Given the description of an element on the screen output the (x, y) to click on. 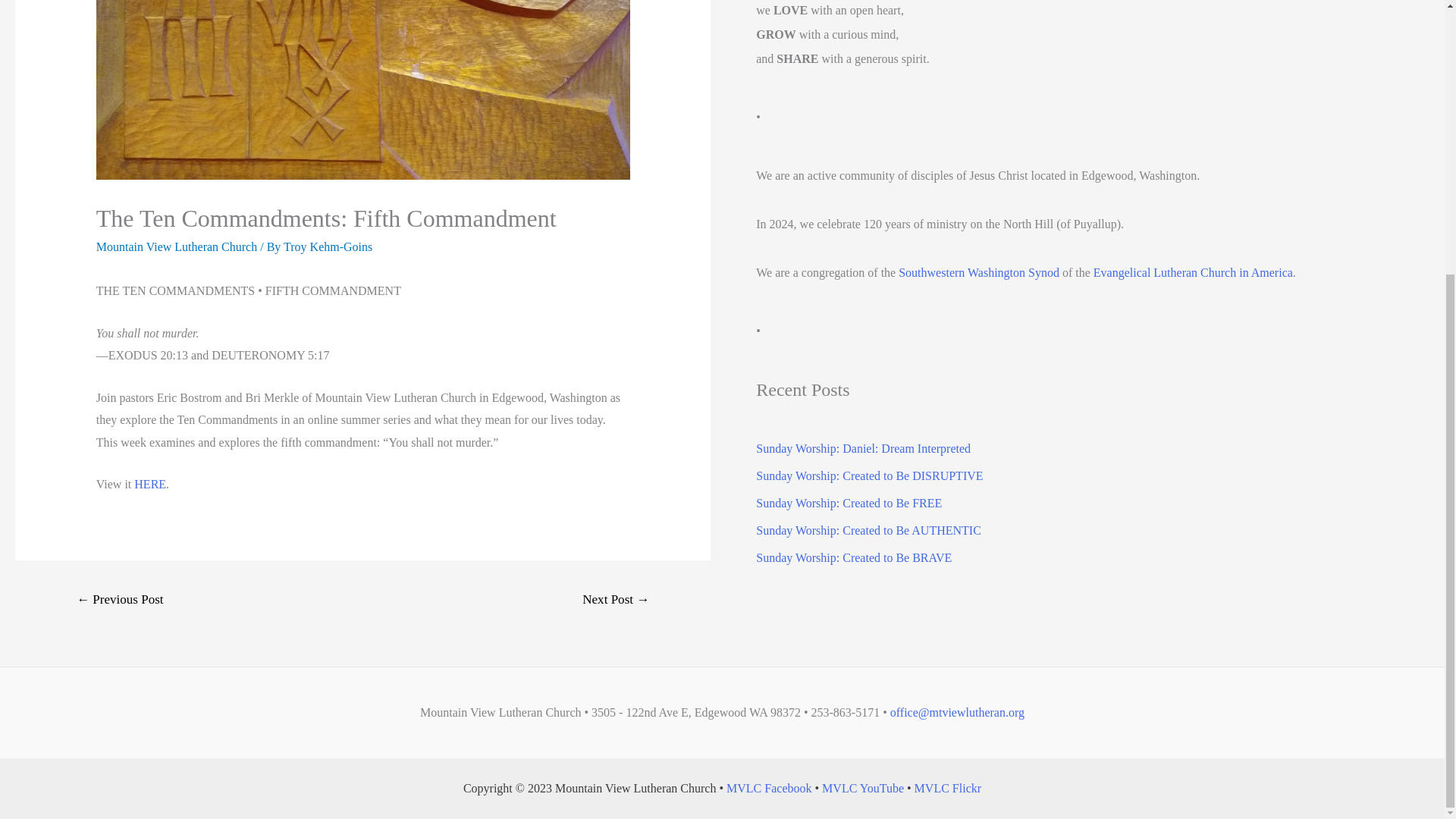
View all posts by Troy Kehm-Goins (327, 246)
